Given the description of an element on the screen output the (x, y) to click on. 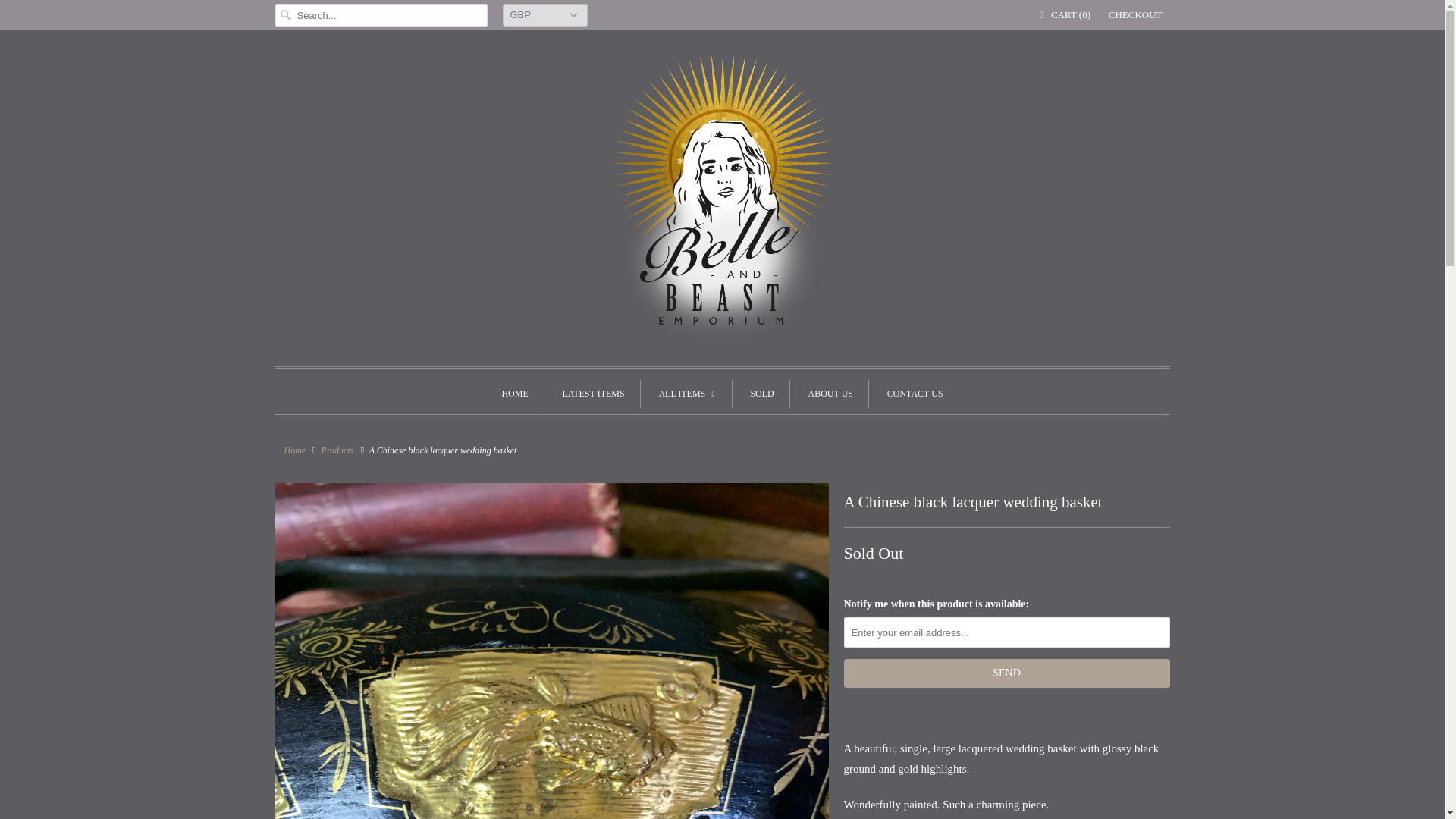
ALL ITEMS (687, 393)
LATEST ITEMS (593, 393)
Products (337, 450)
Belle and Beast Emporium (294, 450)
CONTACT US (914, 393)
Send (1006, 673)
CHECKOUT (1134, 15)
ABOUT US (830, 393)
HOME (513, 393)
Home (294, 450)
